Given the description of an element on the screen output the (x, y) to click on. 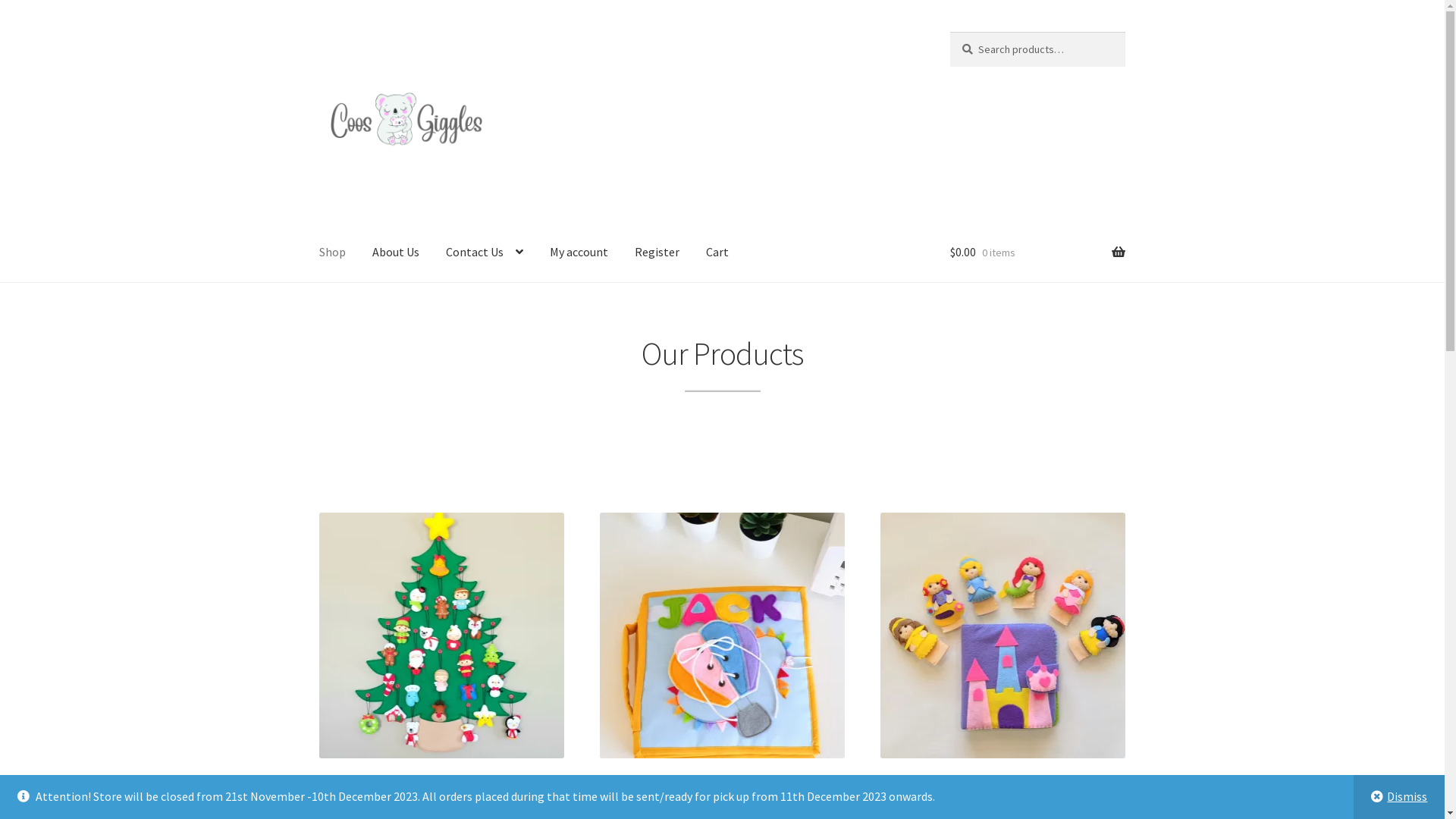
About Us Element type: text (395, 252)
Quiet Books (9) Element type: text (722, 651)
Finger puppets (5) Element type: text (1003, 651)
Christmas (3) Element type: text (441, 651)
Cart Element type: text (716, 252)
Shop Element type: text (332, 252)
Search Element type: text (949, 31)
$0.00 0 items Element type: text (1037, 252)
Skip to navigation Element type: text (318, 31)
Register Element type: text (656, 252)
My account Element type: text (578, 252)
Contact Us Element type: text (484, 252)
